Given the description of an element on the screen output the (x, y) to click on. 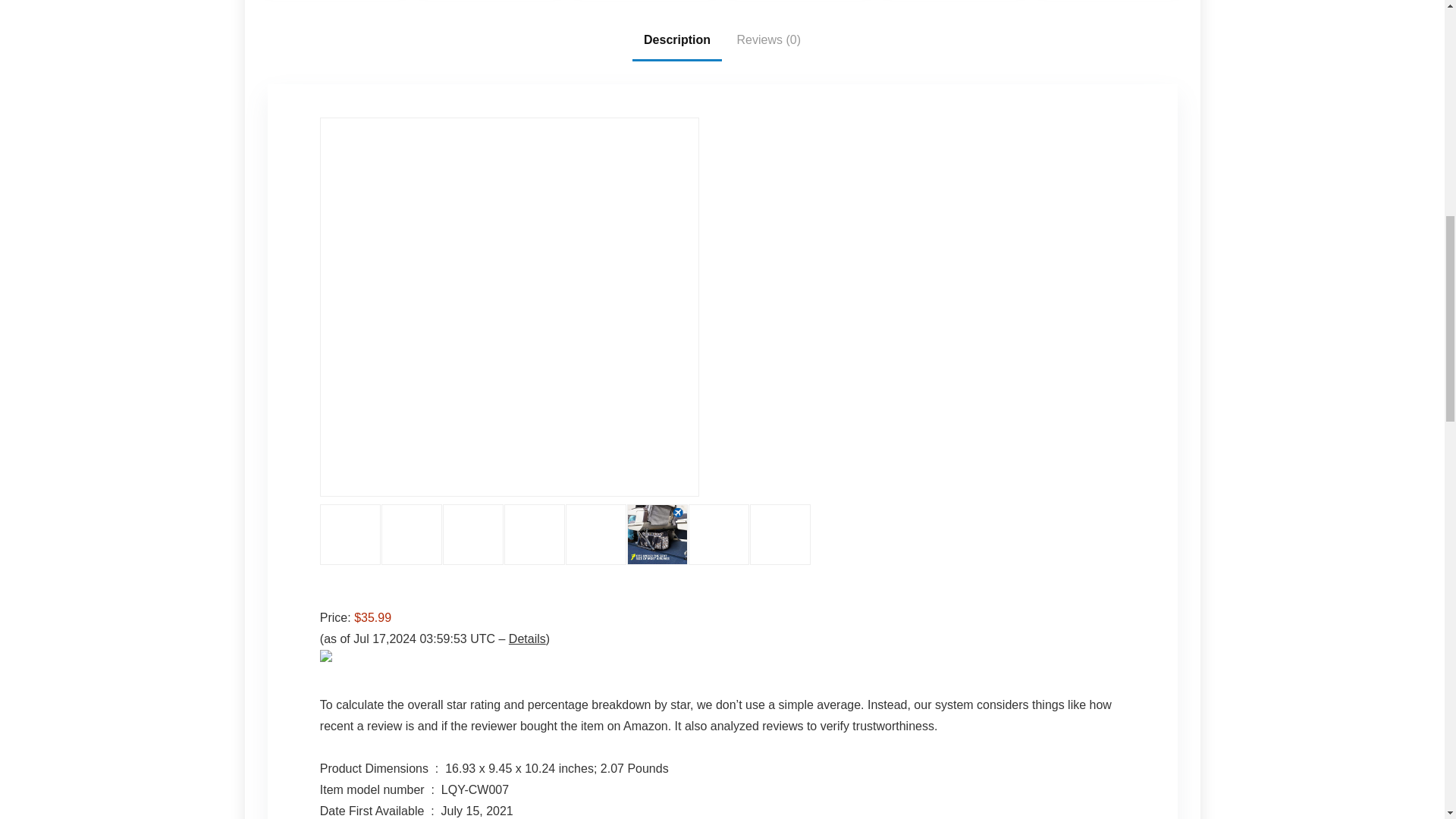
Description (676, 39)
